Given the description of an element on the screen output the (x, y) to click on. 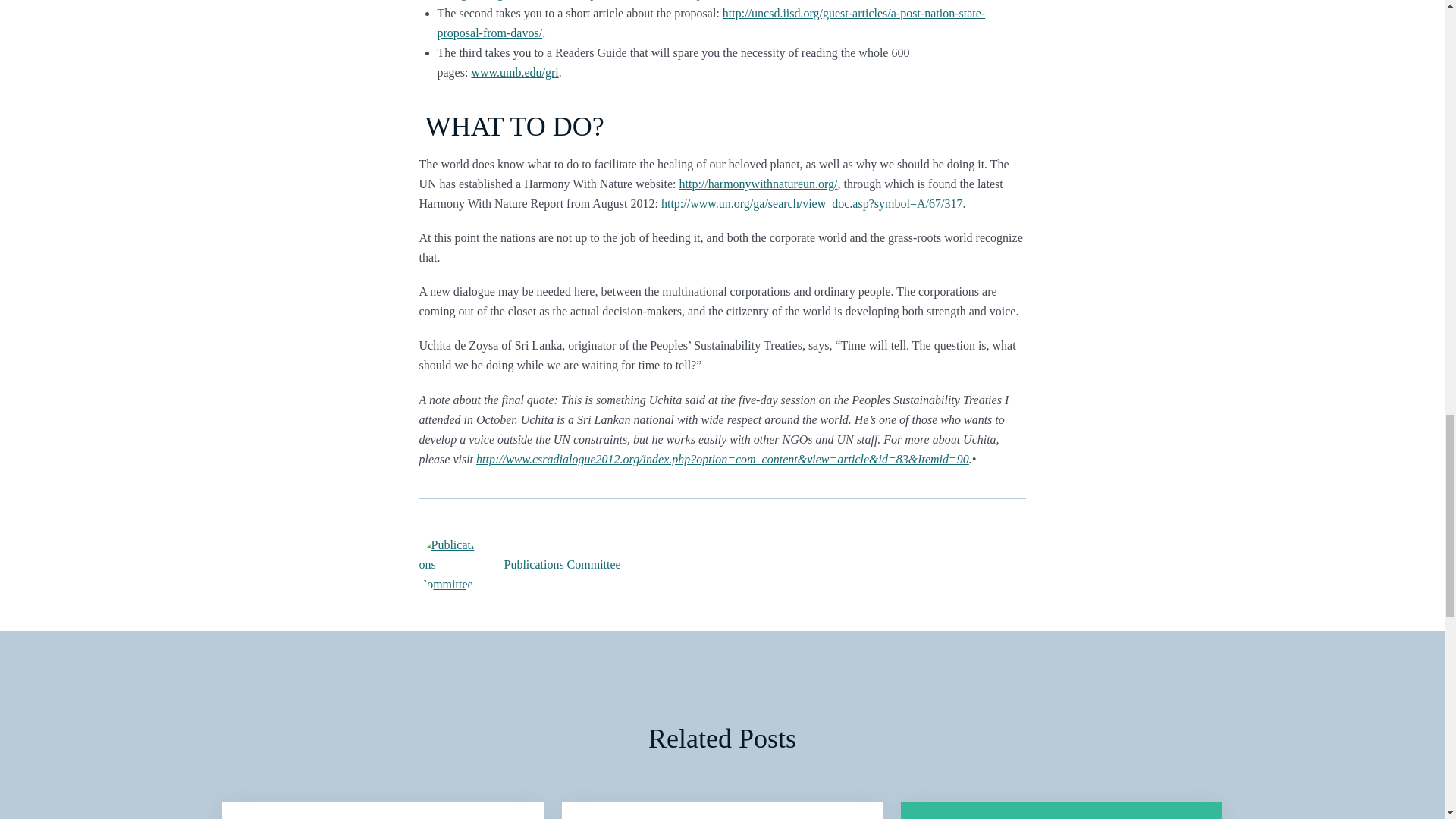
Publications Committee (764, 564)
